Given the description of an element on the screen output the (x, y) to click on. 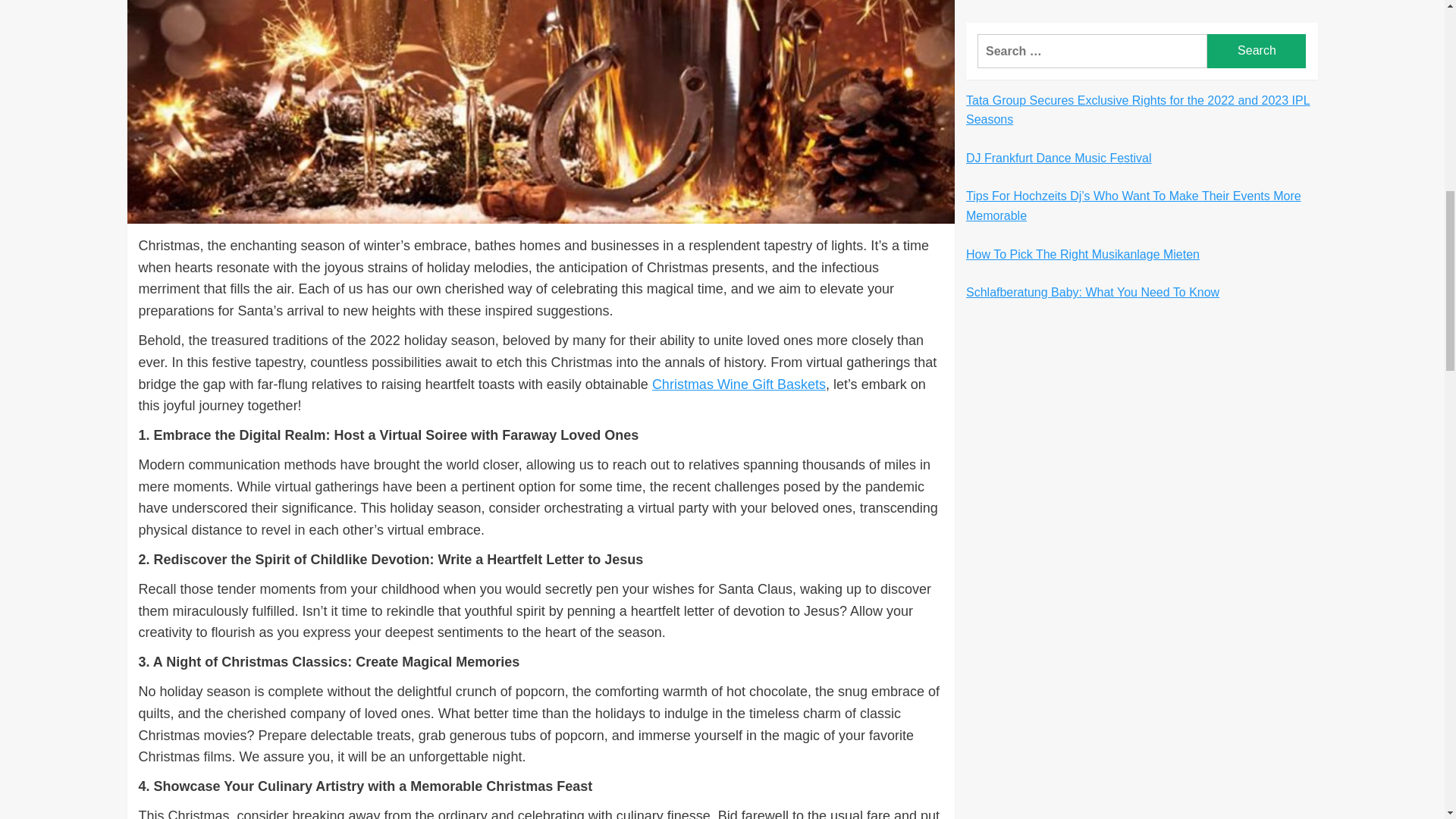
Christmas Wine Gift Baskets (738, 383)
